Given the description of an element on the screen output the (x, y) to click on. 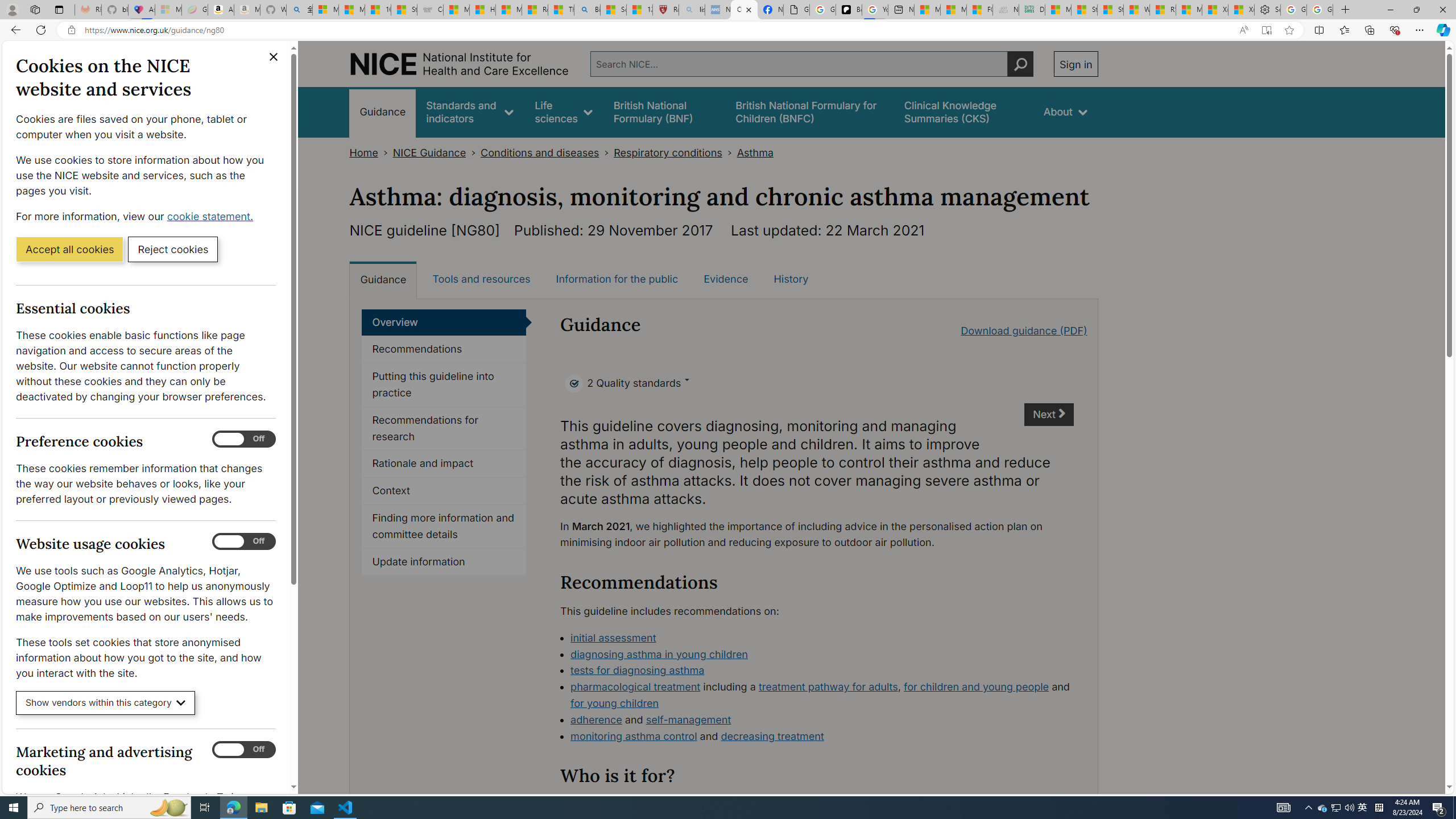
initial assessment (822, 638)
Enter Immersive Reader (F9) (1266, 29)
